Given the description of an element on the screen output the (x, y) to click on. 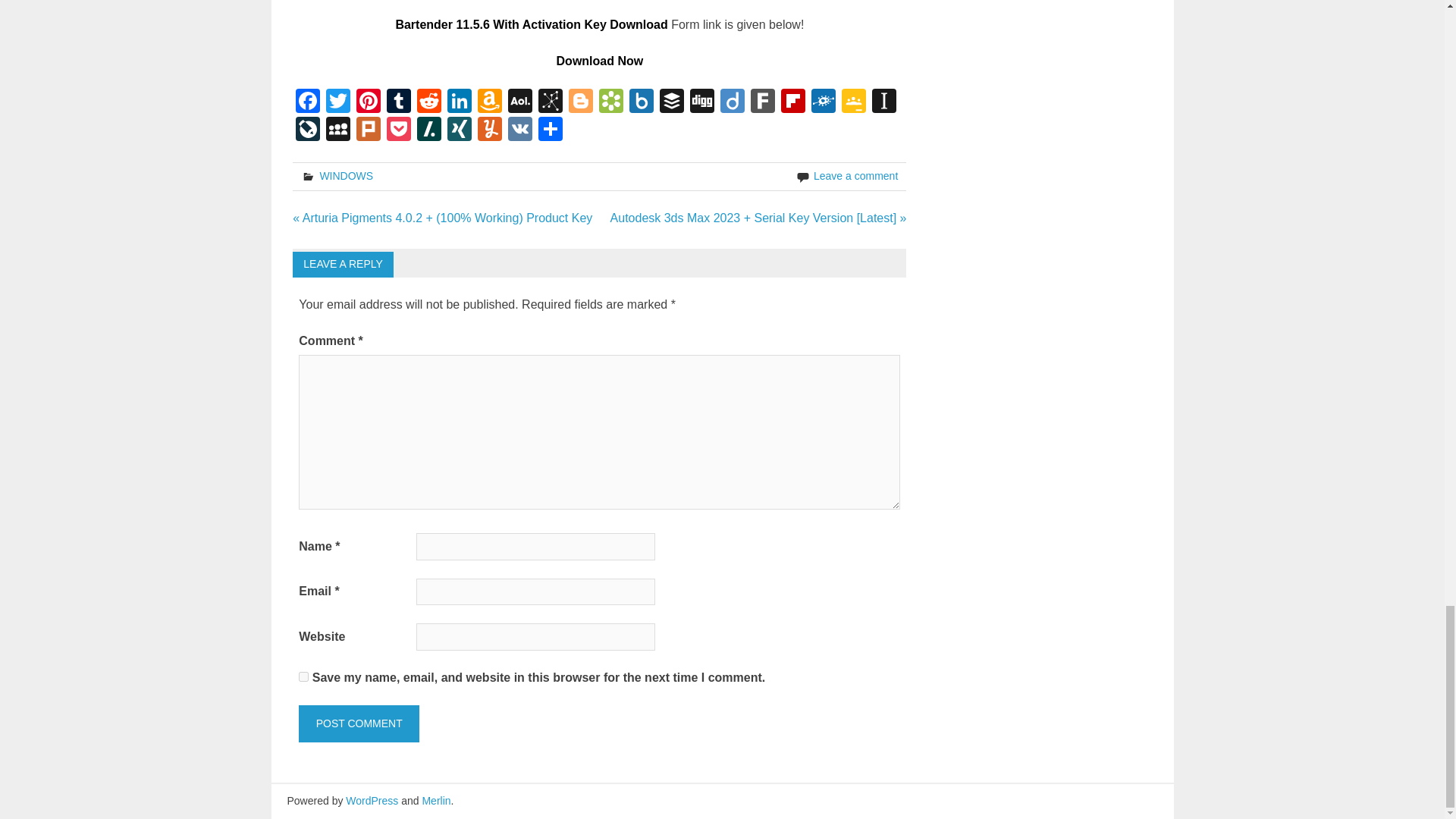
Instapaper (884, 102)
Download Now (599, 60)
Box.net (641, 102)
Bookmarks.fr (610, 102)
Facebook (307, 102)
Fark (762, 102)
Reddit (428, 102)
AOL Mail (520, 102)
Plurk (368, 130)
BibSonomy (550, 102)
